Given the description of an element on the screen output the (x, y) to click on. 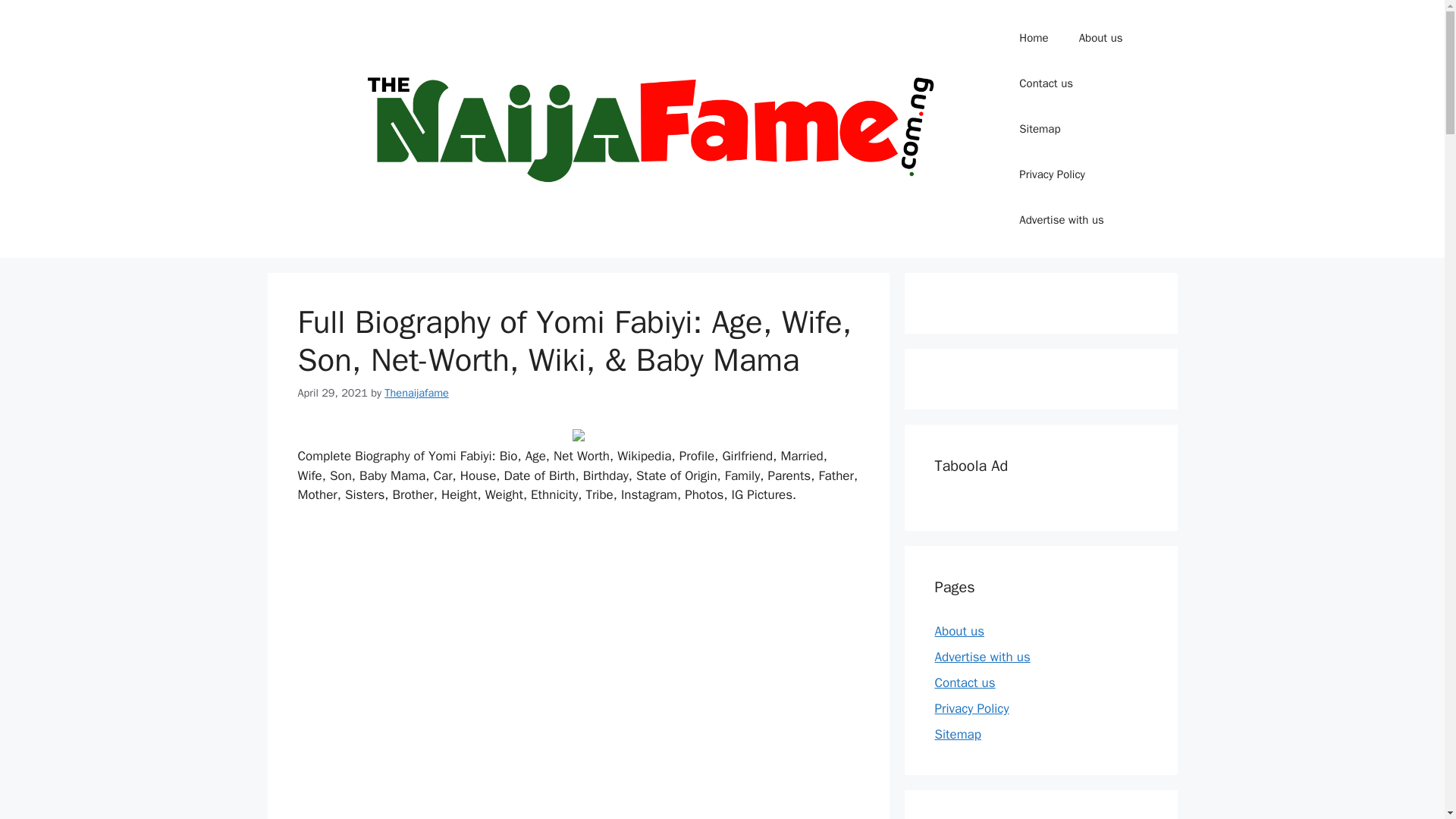
Contact us (1045, 83)
Advertise with us (1061, 219)
Thenaijafame (416, 392)
About us (959, 631)
Home (1033, 37)
Sitemap (1039, 128)
About us (1101, 37)
View all posts by Thenaijafame (416, 392)
Privacy Policy (1052, 174)
